Given the description of an element on the screen output the (x, y) to click on. 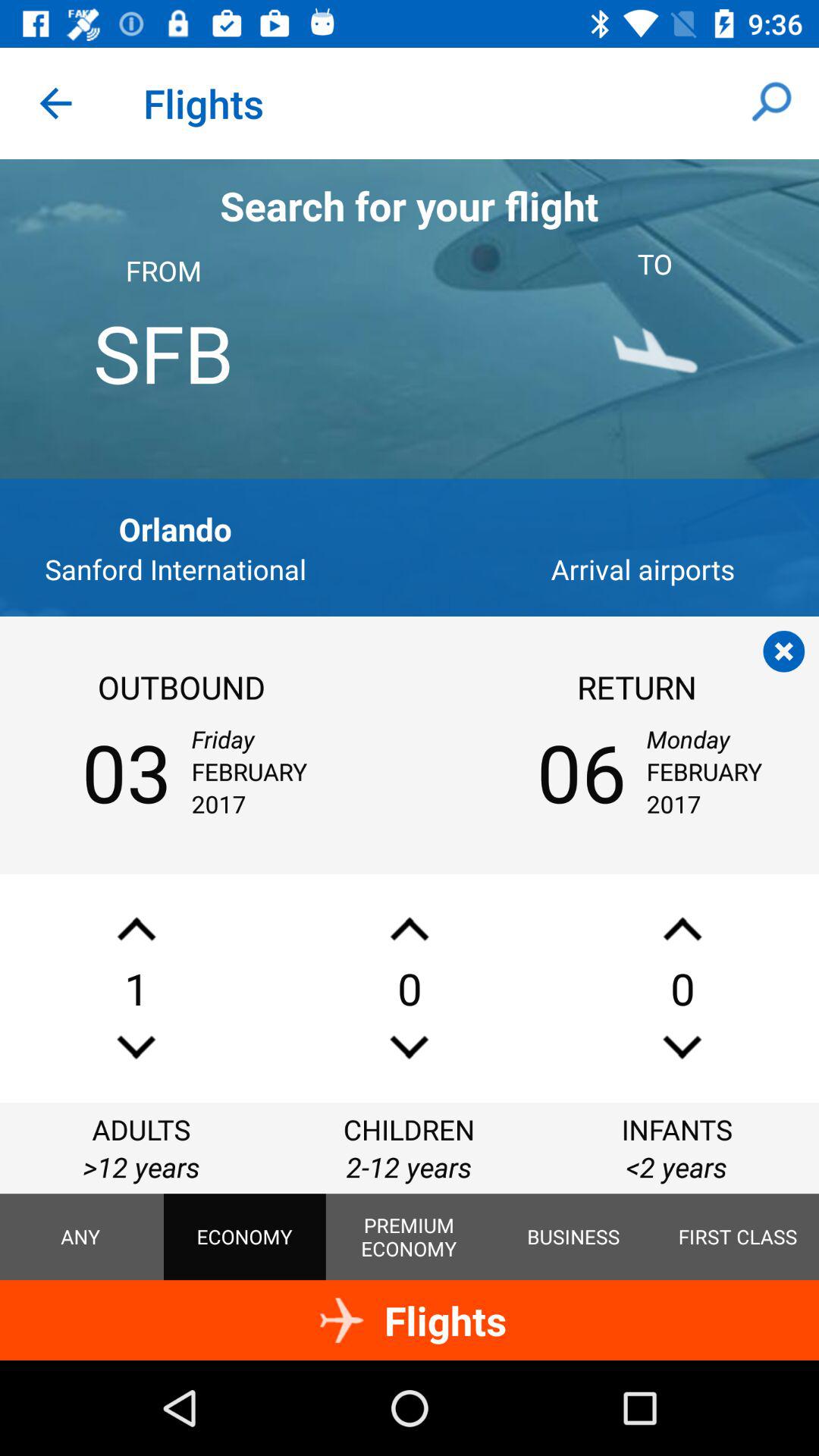
next (136, 1047)
